Given the description of an element on the screen output the (x, y) to click on. 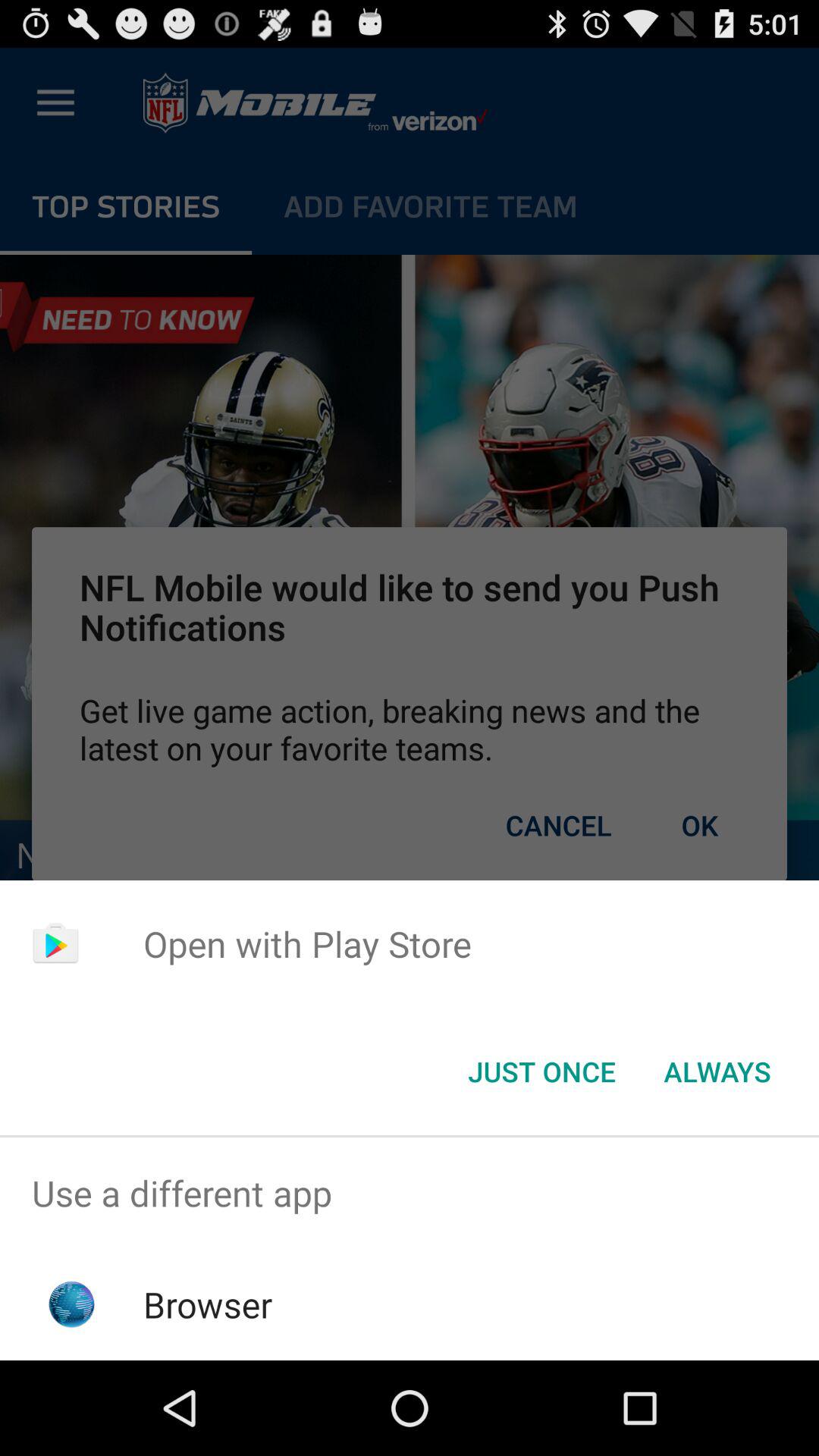
swipe to the always (717, 1071)
